Given the description of an element on the screen output the (x, y) to click on. 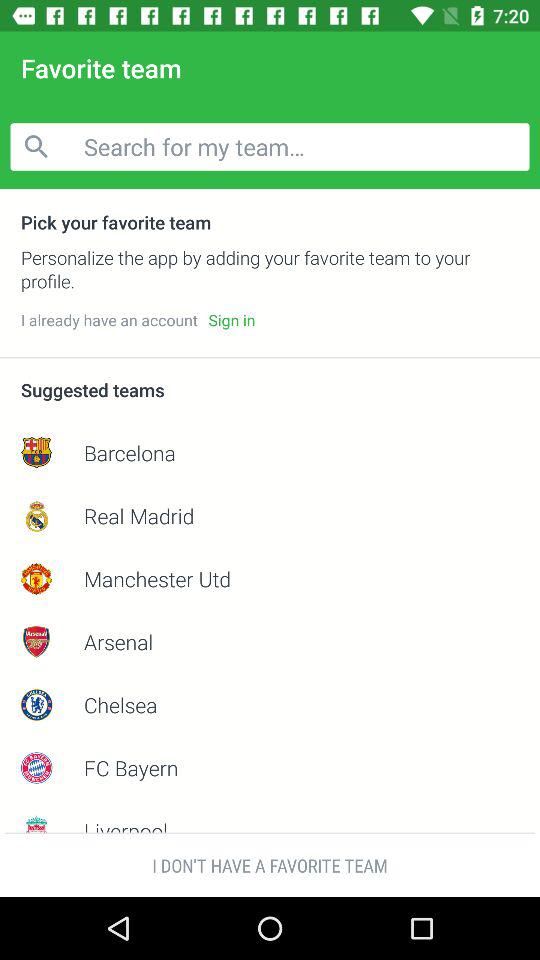
turn on the item to the right of i already have (231, 319)
